Given the description of an element on the screen output the (x, y) to click on. 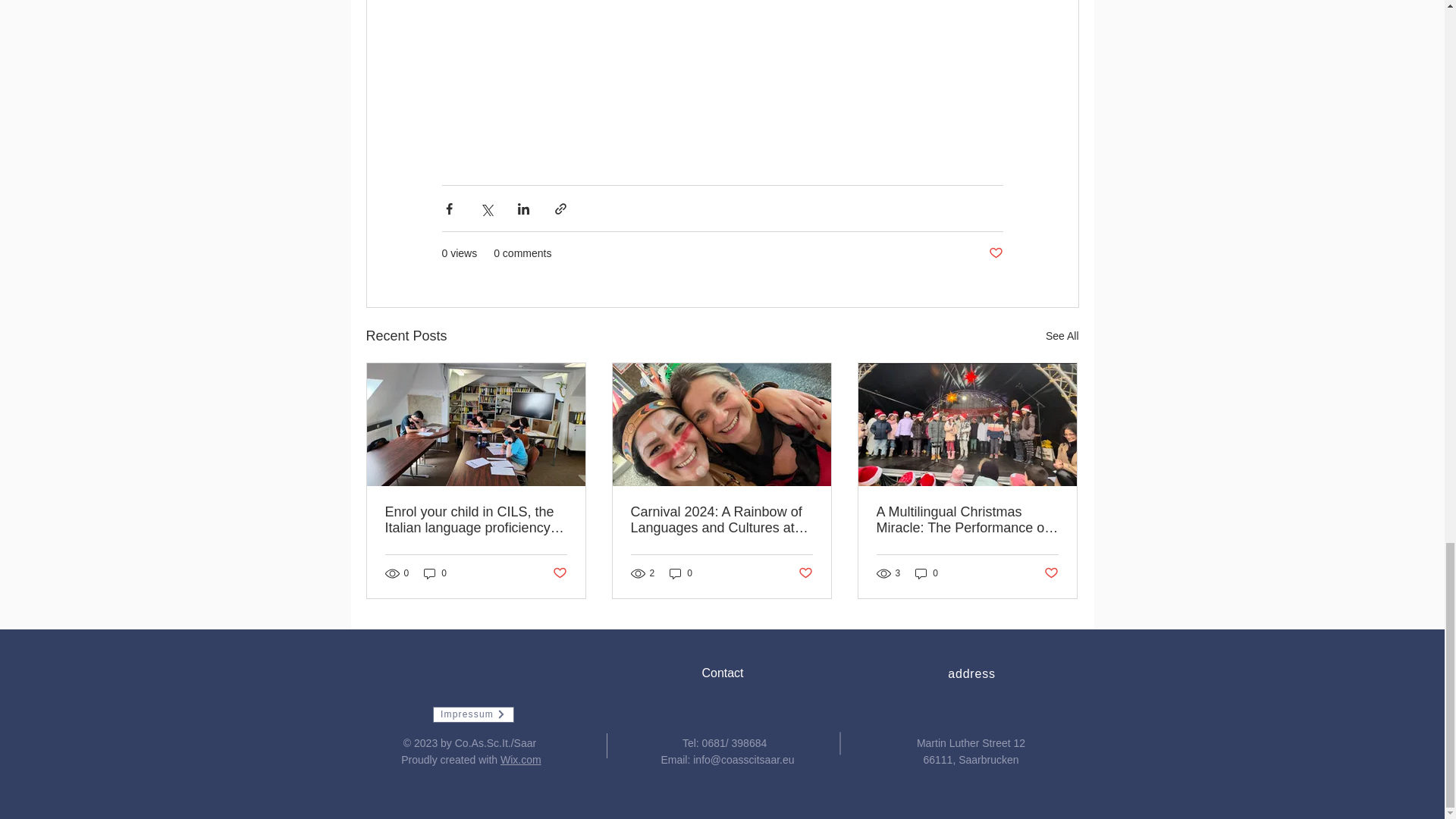
0 (435, 573)
Post not marked as liked (804, 573)
See All (1061, 336)
Post not marked as liked (558, 573)
Post not marked as liked (995, 253)
0 (681, 573)
